Given the description of an element on the screen output the (x, y) to click on. 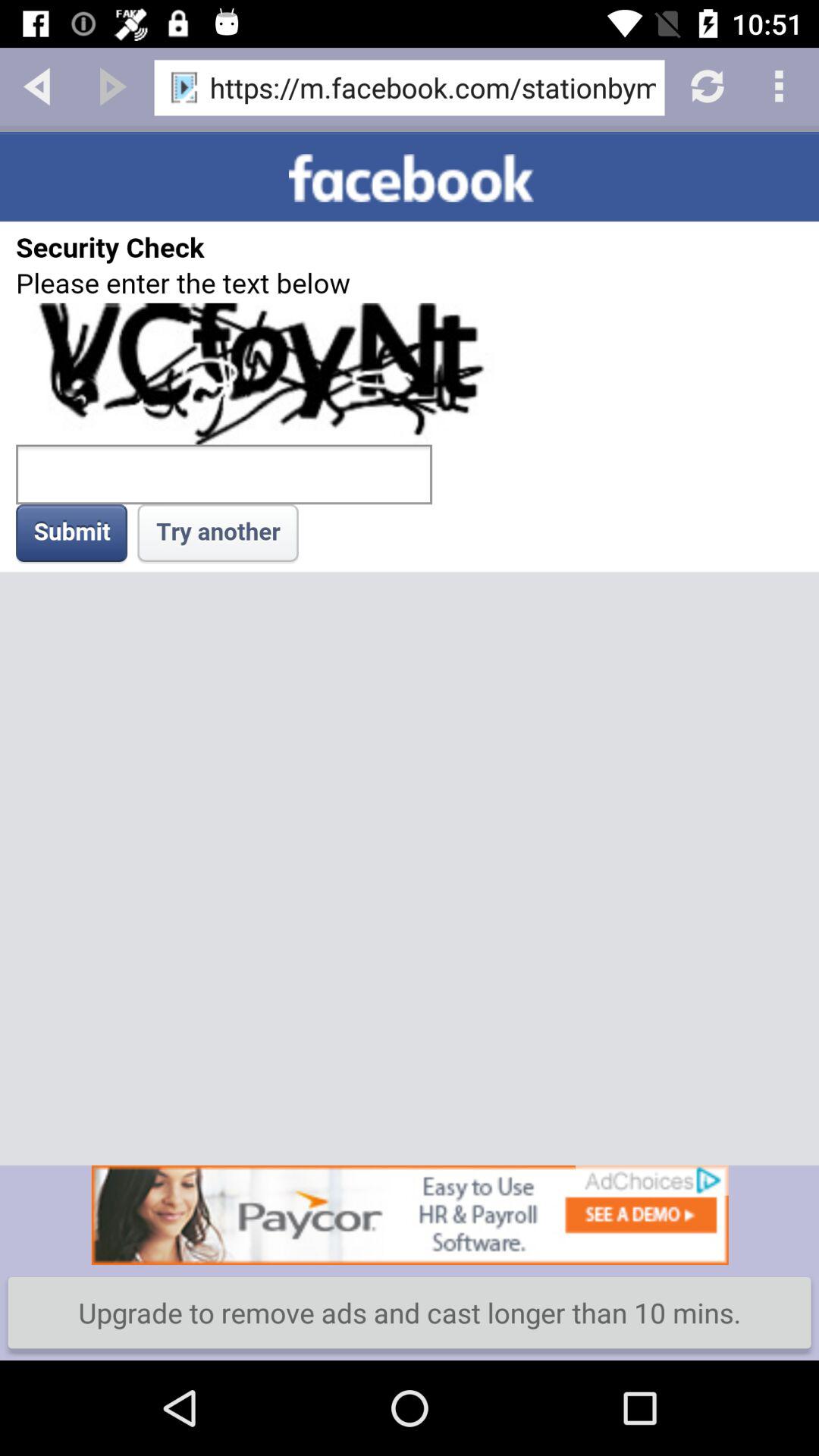
more options (781, 85)
